Given the description of an element on the screen output the (x, y) to click on. 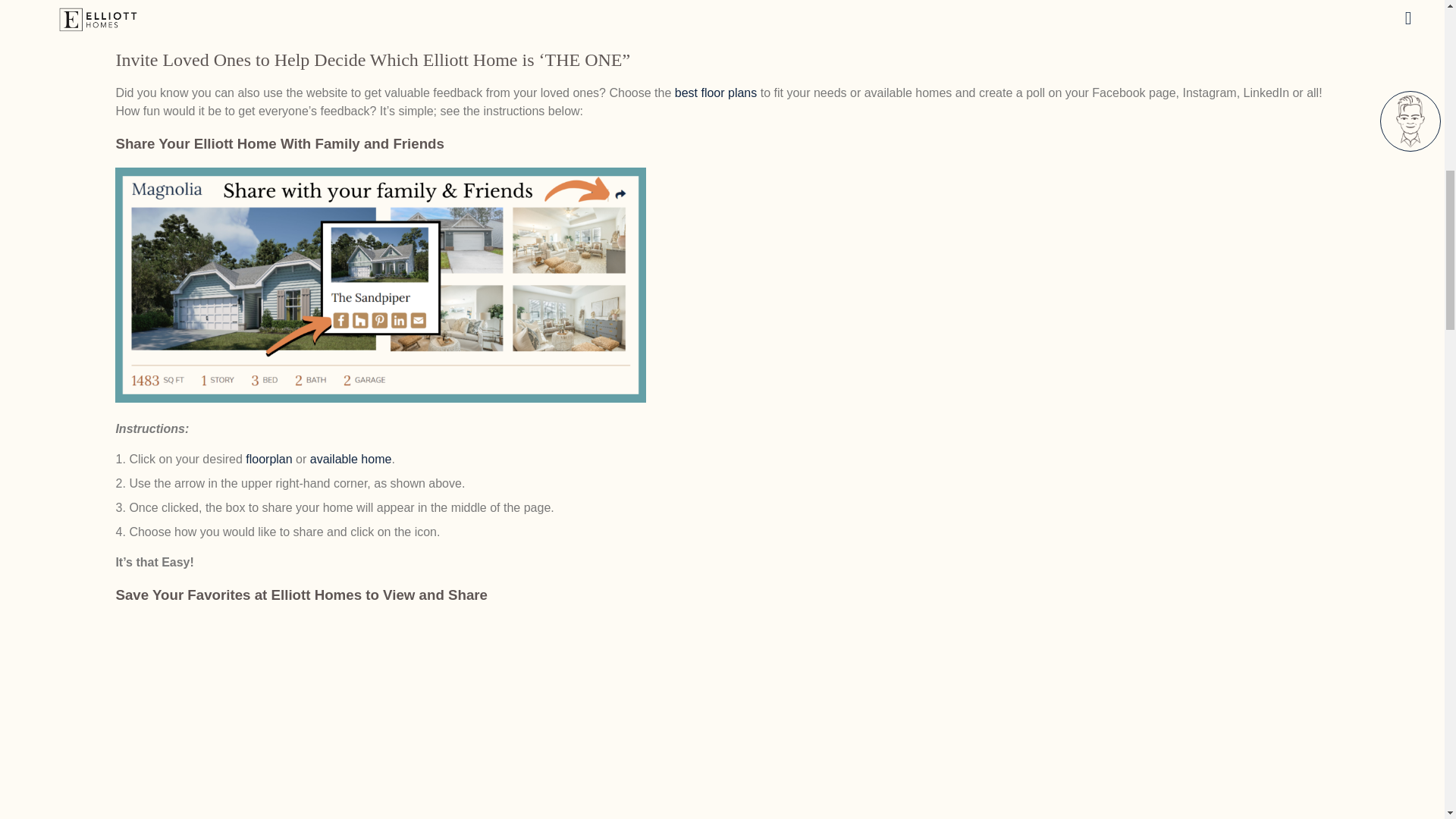
floorplan (267, 459)
best floor plans (716, 92)
new home communities (355, 26)
home builder website (349, 8)
available home (350, 459)
family (719, 8)
